Given the description of an element on the screen output the (x, y) to click on. 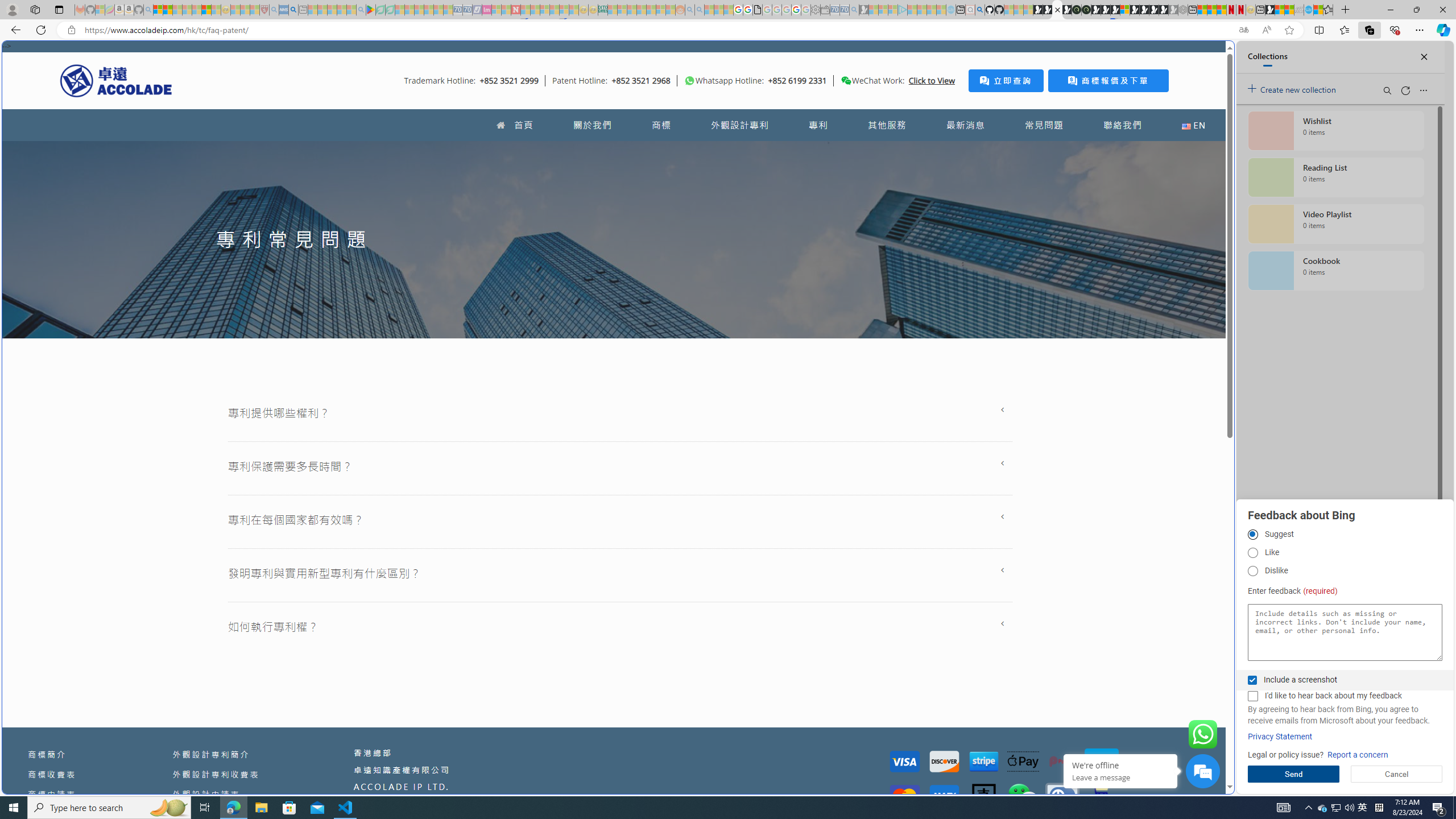
EN (1193, 124)
World - MSN (1279, 9)
